Given the description of an element on the screen output the (x, y) to click on. 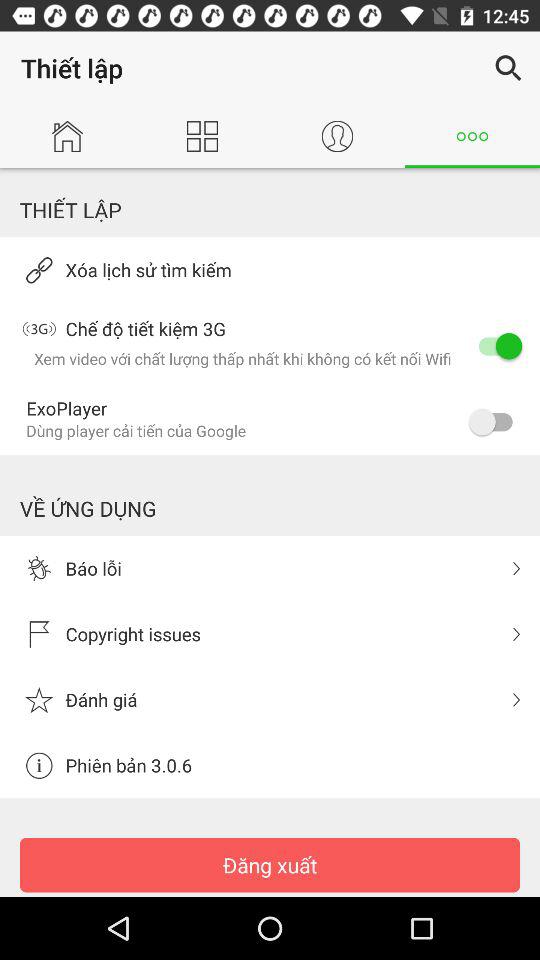
click on the more icon (472, 135)
select the button which is right to exoplayer (495, 421)
